Given the description of an element on the screen output the (x, y) to click on. 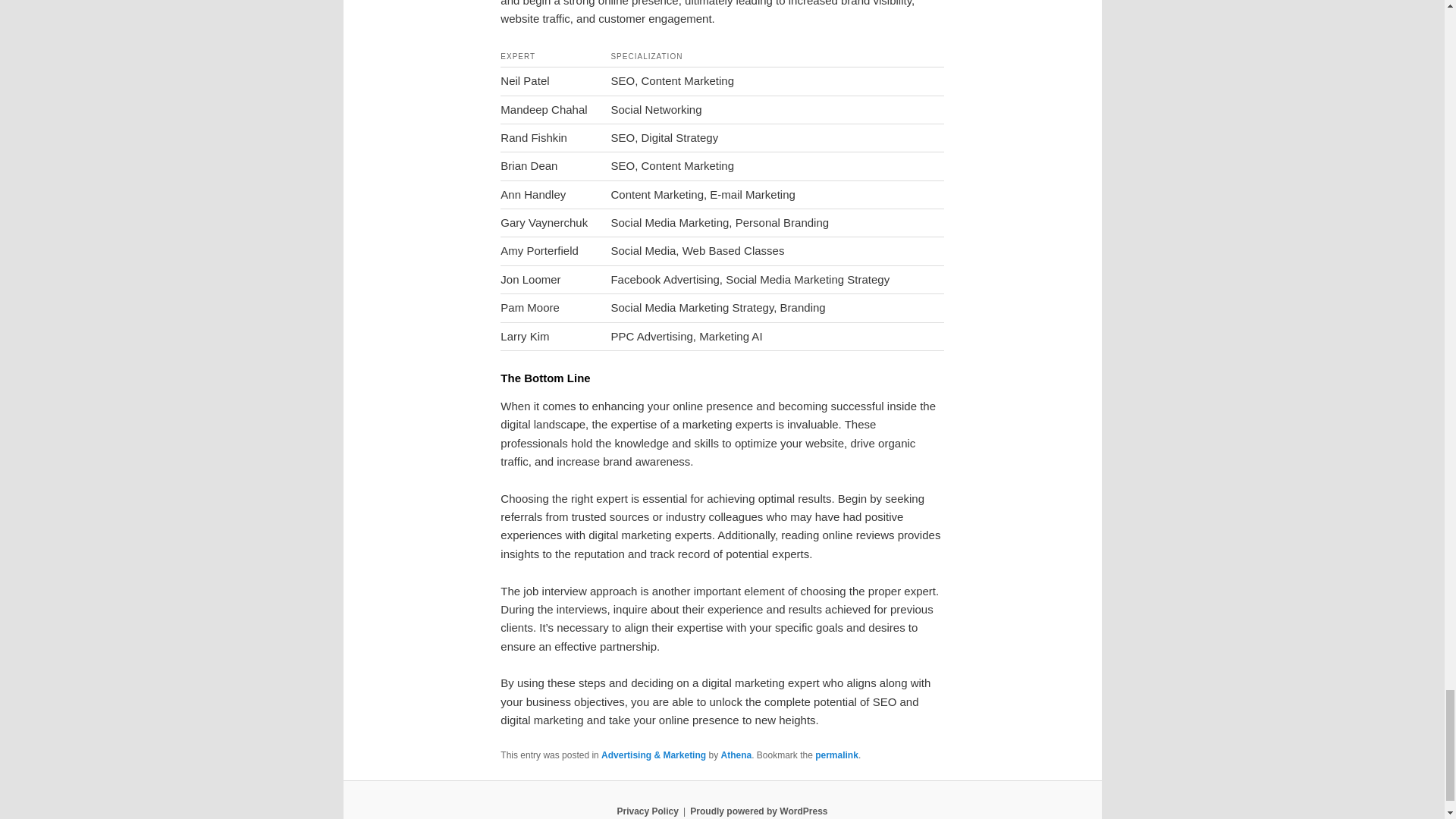
Proudly powered by WordPress (758, 810)
Permalink to Winning SEO Strategies (837, 755)
permalink (837, 755)
Privacy Policy (646, 810)
Semantic Personal Publishing Platform (758, 810)
Athena (735, 755)
